Given the description of an element on the screen output the (x, y) to click on. 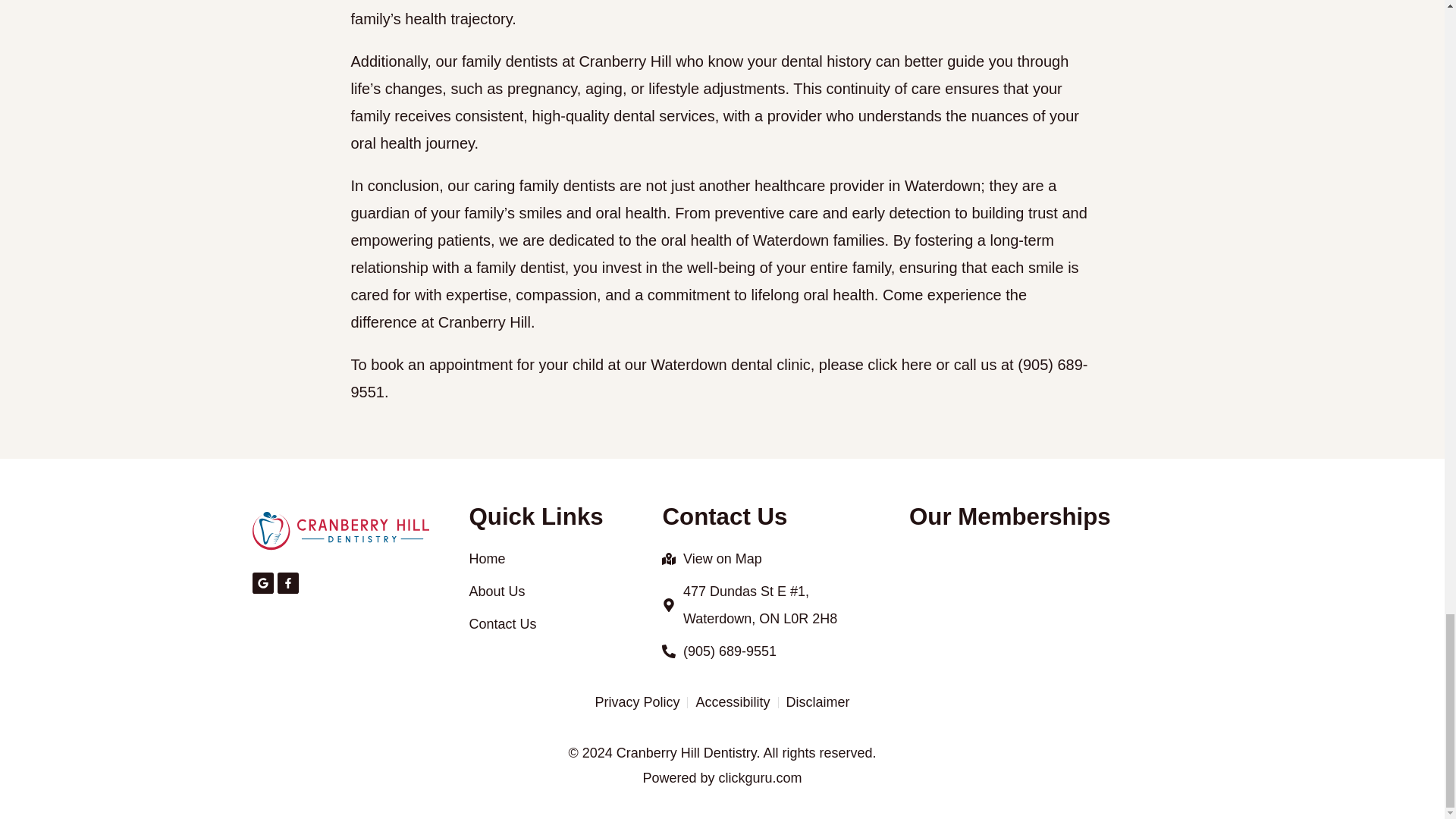
Privacy Policy (636, 701)
Disclaimer (818, 701)
Contact Us (549, 624)
clickguru.com (760, 777)
About Us (549, 591)
View on Map (751, 558)
Accessibility (732, 701)
Home (549, 558)
